Given the description of an element on the screen output the (x, y) to click on. 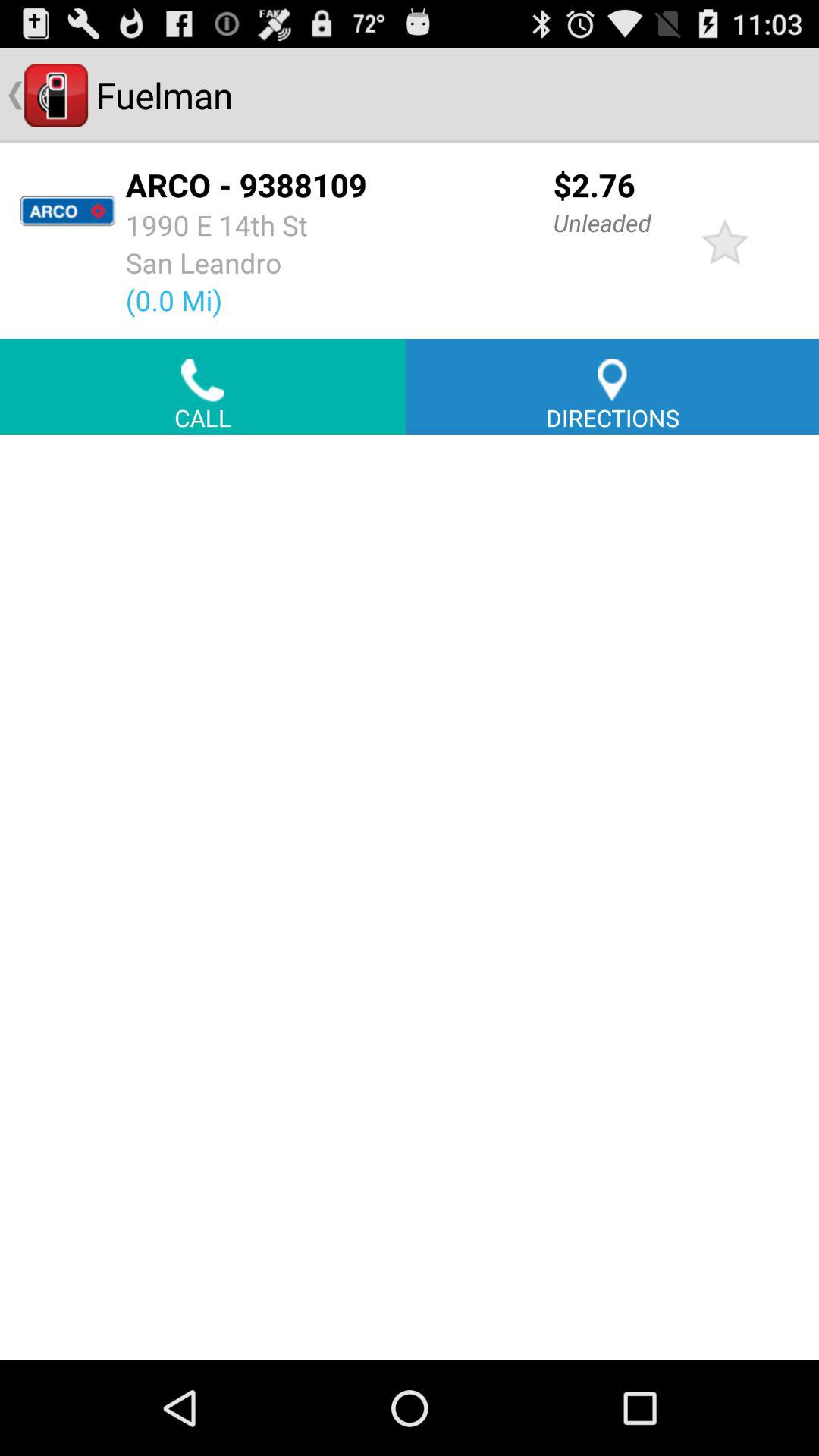
tap app next to the unleaded app (724, 240)
